Given the description of an element on the screen output the (x, y) to click on. 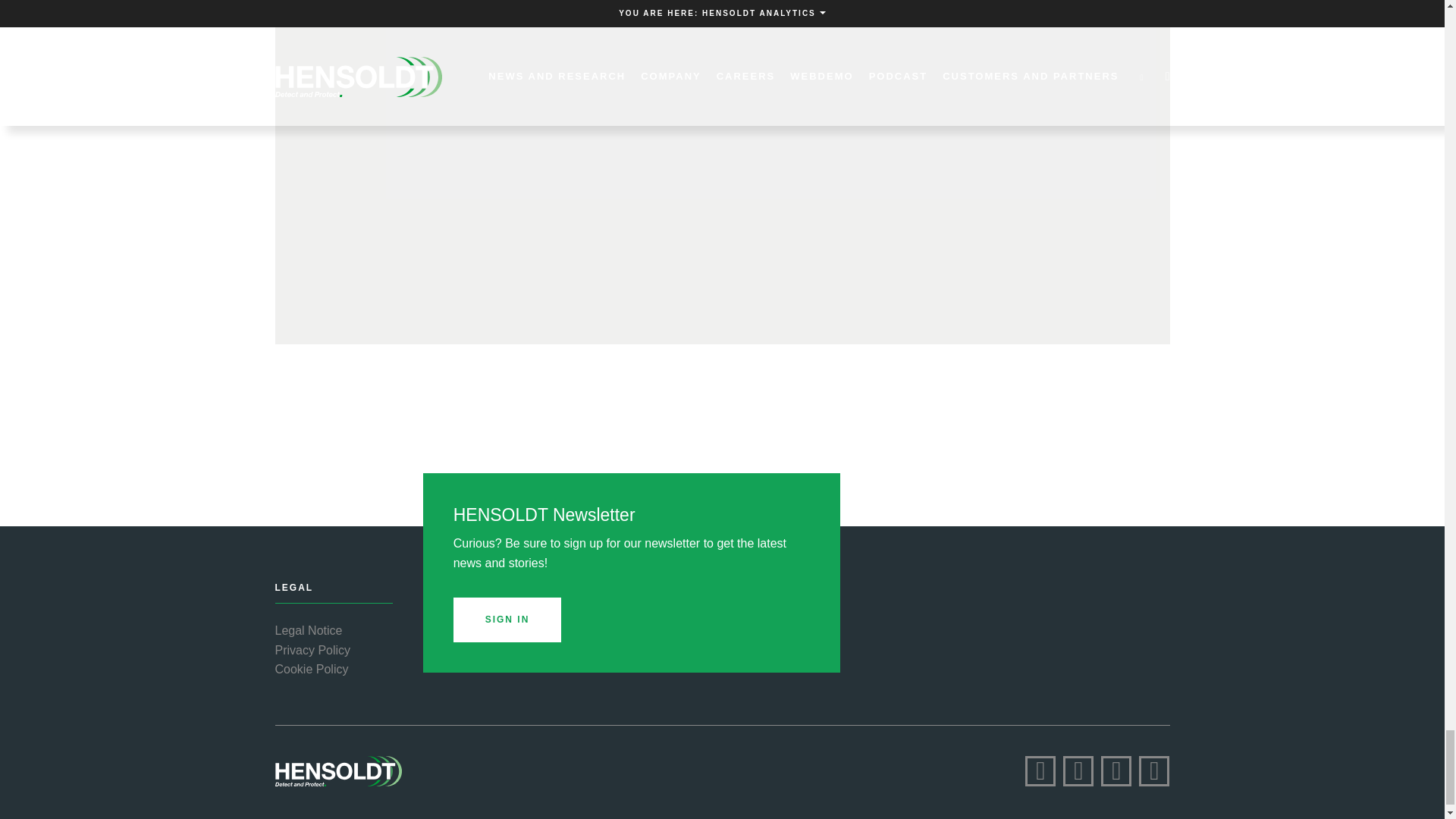
Cookie Policy (311, 669)
SIGN IN (507, 619)
Cookie Policy (311, 669)
Legal Notice (308, 630)
Privacy Policy (312, 650)
Privacy Policy (312, 650)
Legal Notice (308, 630)
